Given the description of an element on the screen output the (x, y) to click on. 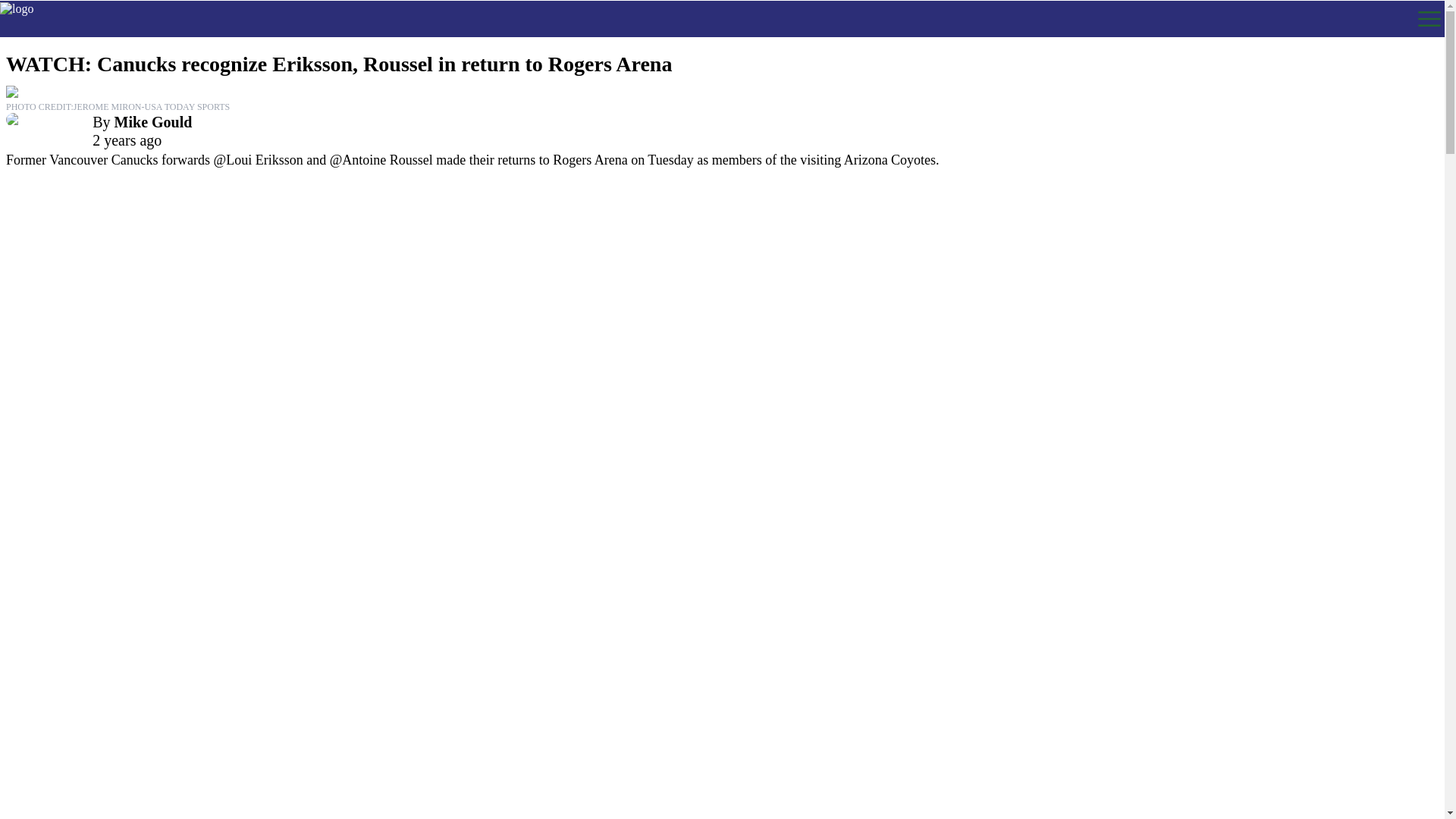
Mike Gould (153, 121)
